Given the description of an element on the screen output the (x, y) to click on. 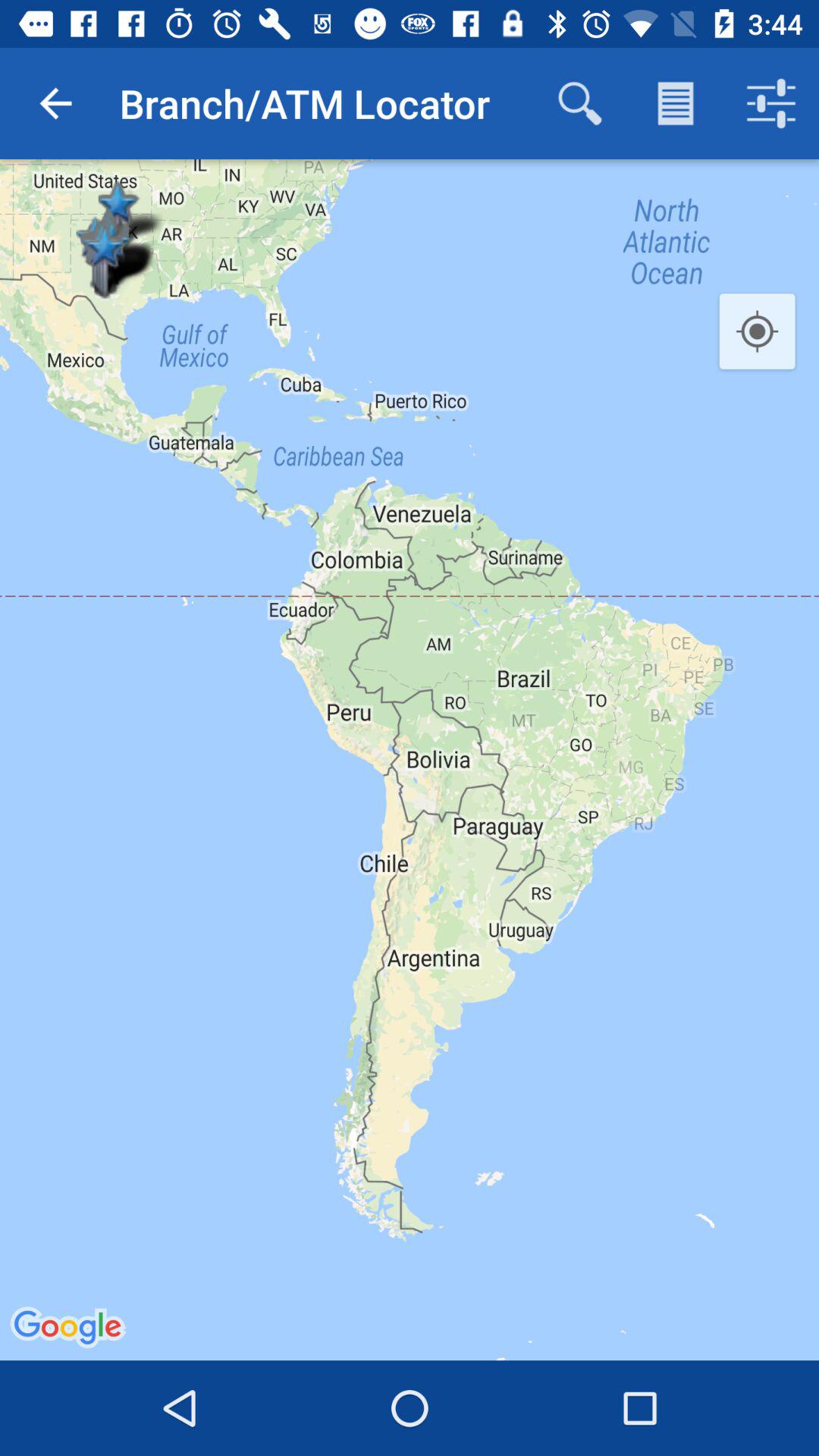
press icon to the left of the branch/atm locator icon (55, 103)
